Given the description of an element on the screen output the (x, y) to click on. 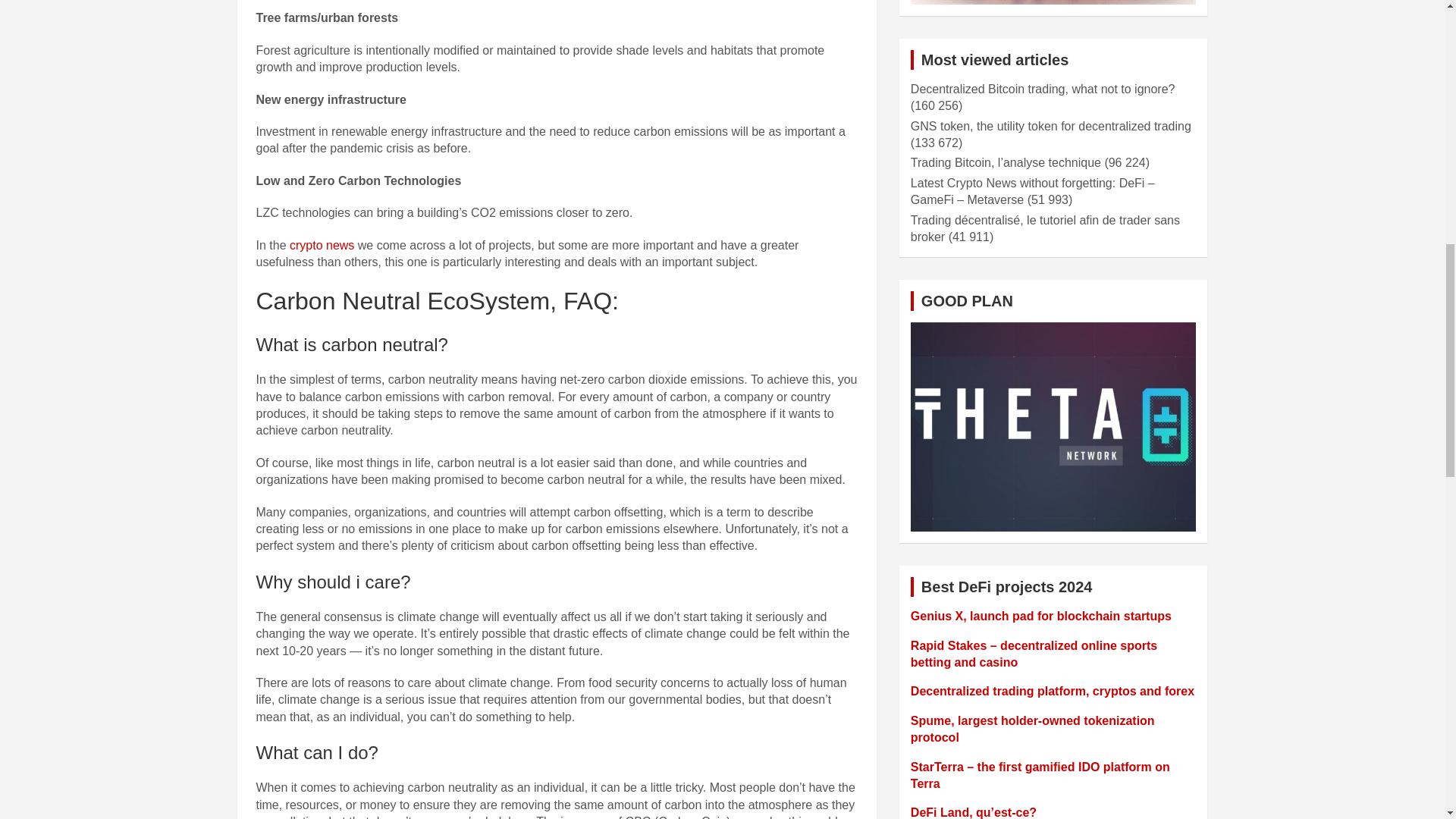
crypto news (321, 245)
